Given the description of an element on the screen output the (x, y) to click on. 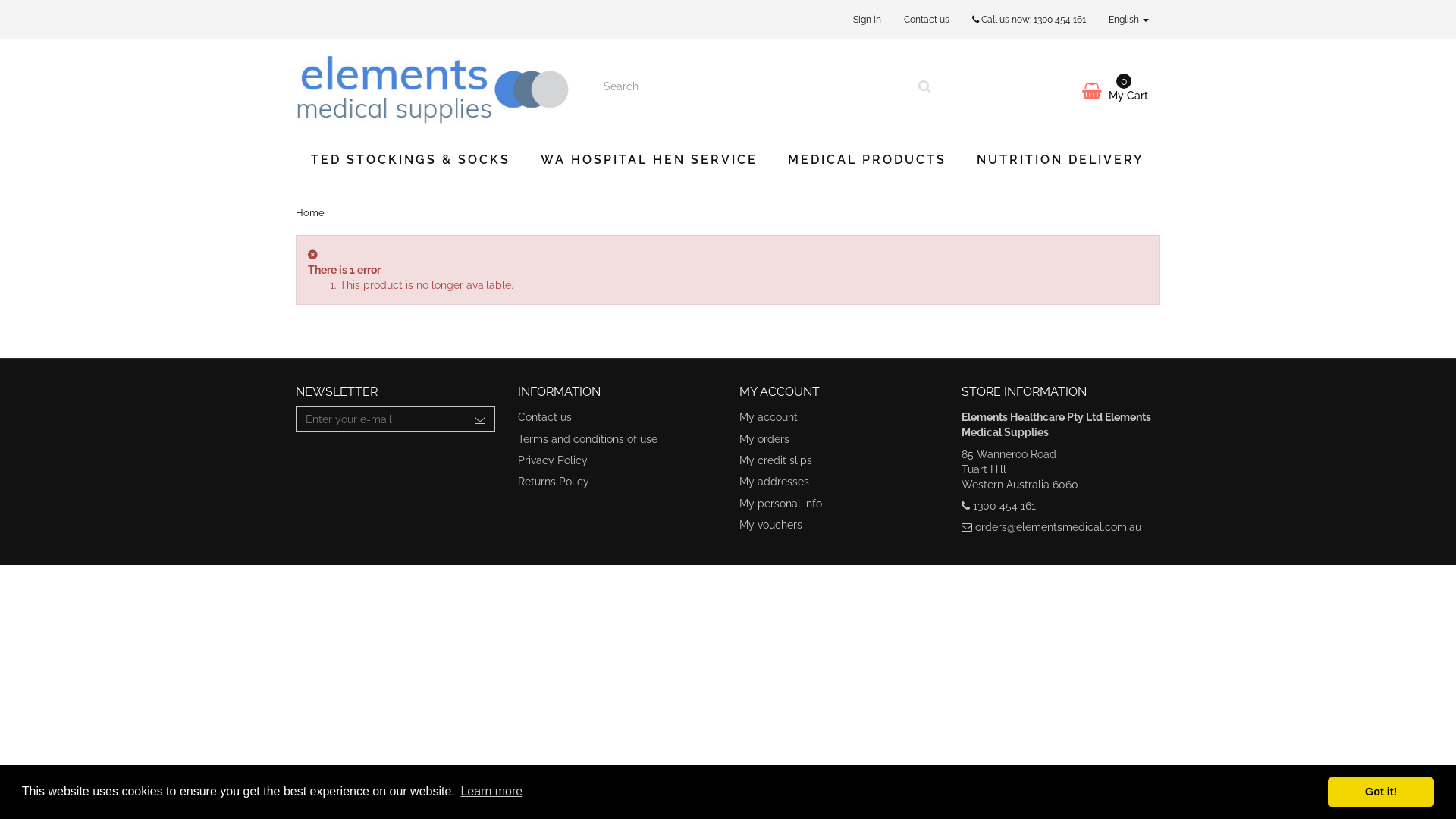
Contact us Element type: text (544, 417)
Home Element type: text (309, 212)
Privacy Policy Element type: text (551, 460)
My Cart
0 Element type: text (1061, 90)
1300 454 161 Element type: text (1003, 505)
My personal info Element type: text (780, 503)
Learn more Element type: text (491, 791)
Returns Policy Element type: text (552, 481)
Contact us Element type: text (926, 19)
Elements Medical Supplies Element type: hover (431, 87)
Terms and conditions of use Element type: text (586, 439)
Sign in Element type: text (866, 19)
WA HOSPITAL HEN SERVICE Element type: text (648, 159)
1300 454 161 Element type: text (1059, 19)
My addresses Element type: text (774, 481)
Got it! Element type: text (1380, 791)
Search Element type: hover (924, 86)
TED STOCKINGS & SOCKS Element type: text (410, 159)
orders@elementsmedical.com.au Element type: text (1058, 526)
My account Element type: text (768, 417)
My credit slips Element type: text (775, 460)
MEDICAL PRODUCTS Element type: text (866, 159)
English Element type: text (1128, 19)
My vouchers Element type: text (770, 524)
NUTRITION DELIVERY Element type: text (1060, 159)
My orders Element type: text (764, 439)
